Given the description of an element on the screen output the (x, y) to click on. 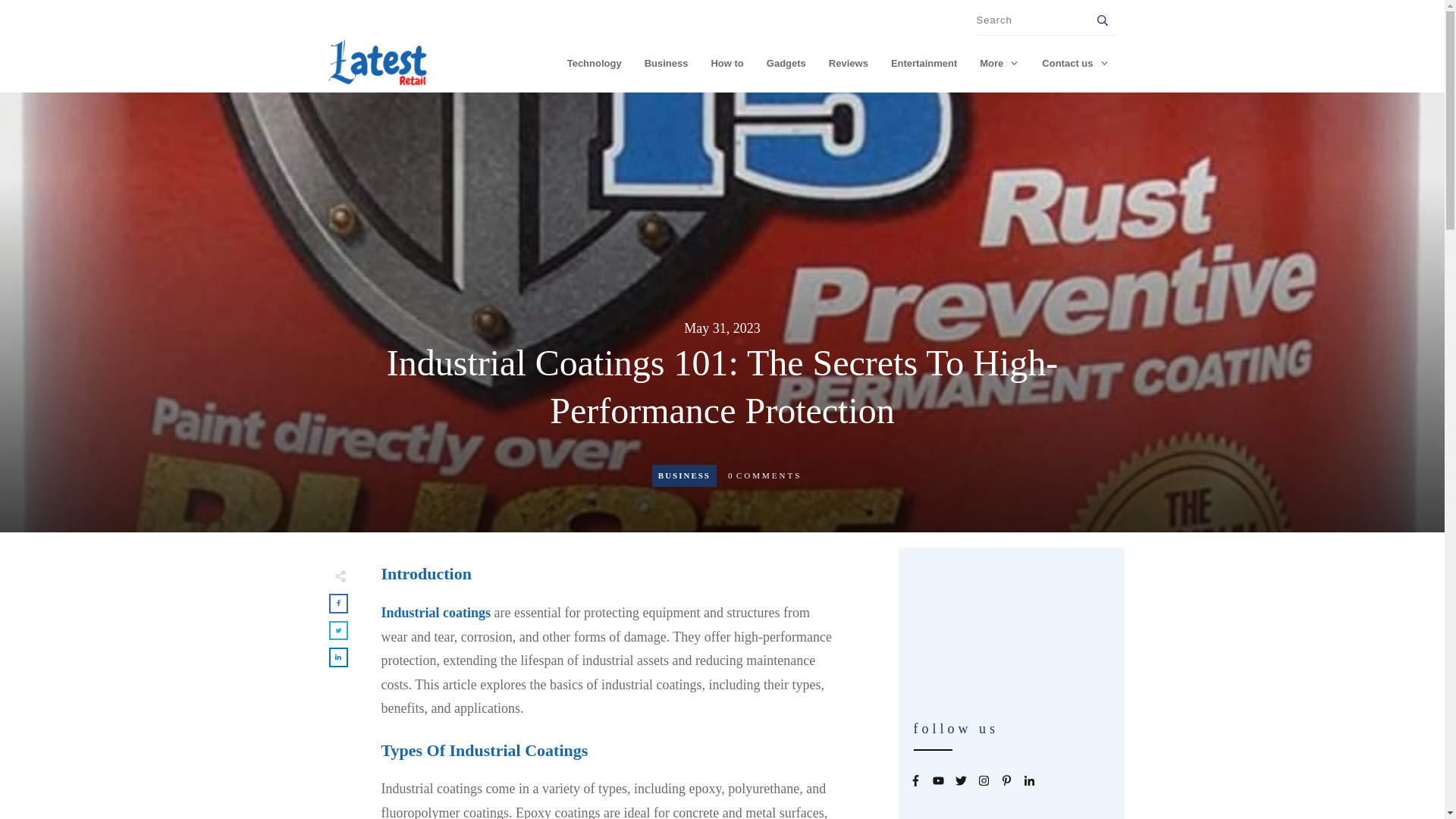
BUSINESS (684, 474)
How to (726, 63)
Gadgets (786, 63)
Business (666, 63)
Contact us (1075, 63)
Industrial coatings (435, 612)
Technology (594, 63)
More (999, 63)
Business (684, 474)
Reviews (847, 63)
Entertainment (923, 63)
